Given the description of an element on the screen output the (x, y) to click on. 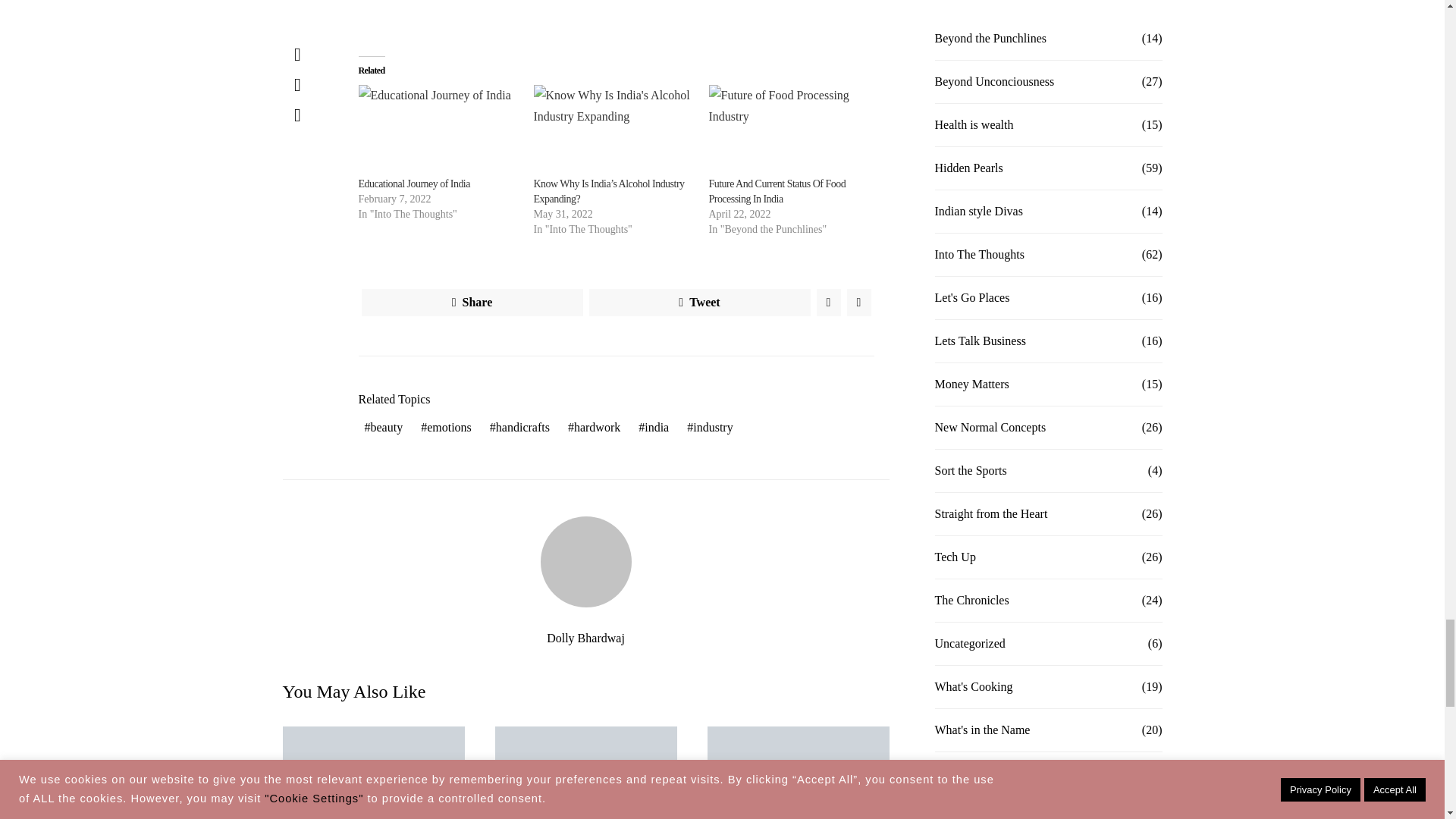
Educational Journey of India (438, 130)
